Given the description of an element on the screen output the (x, y) to click on. 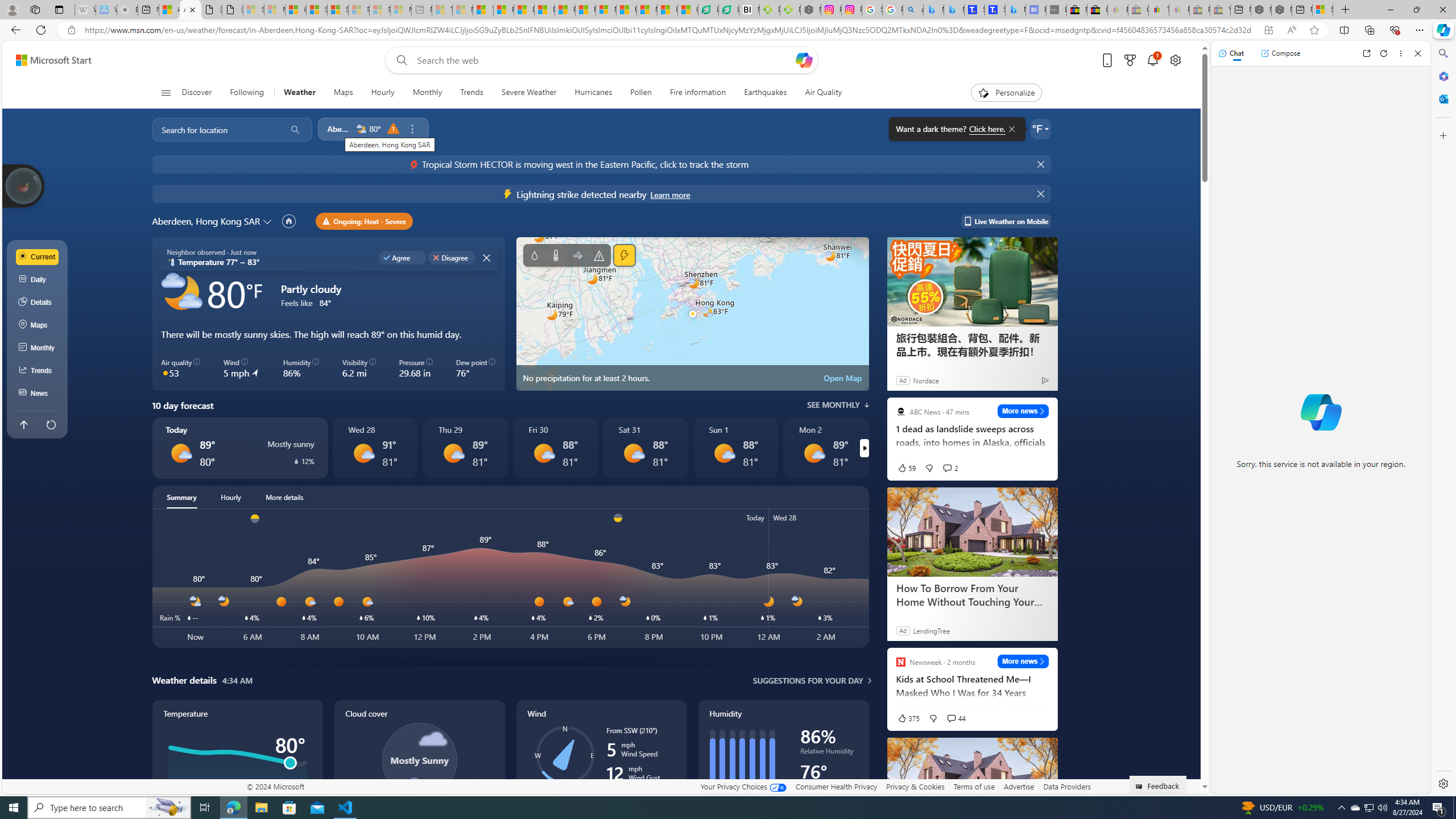
Class: weatherEventAlertIcon-DS-EntryPoint1-1 (507, 193)
Buy iPad - Apple - Sleeping (127, 9)
Hurricanes (592, 92)
Data Providers (1066, 785)
Feedback (1157, 784)
Payments Terms of Use | eBay.com - Sleeping (1178, 9)
Enter your search term (603, 59)
New tab - Sleeping (421, 9)
More details (284, 496)
